Given the description of an element on the screen output the (x, y) to click on. 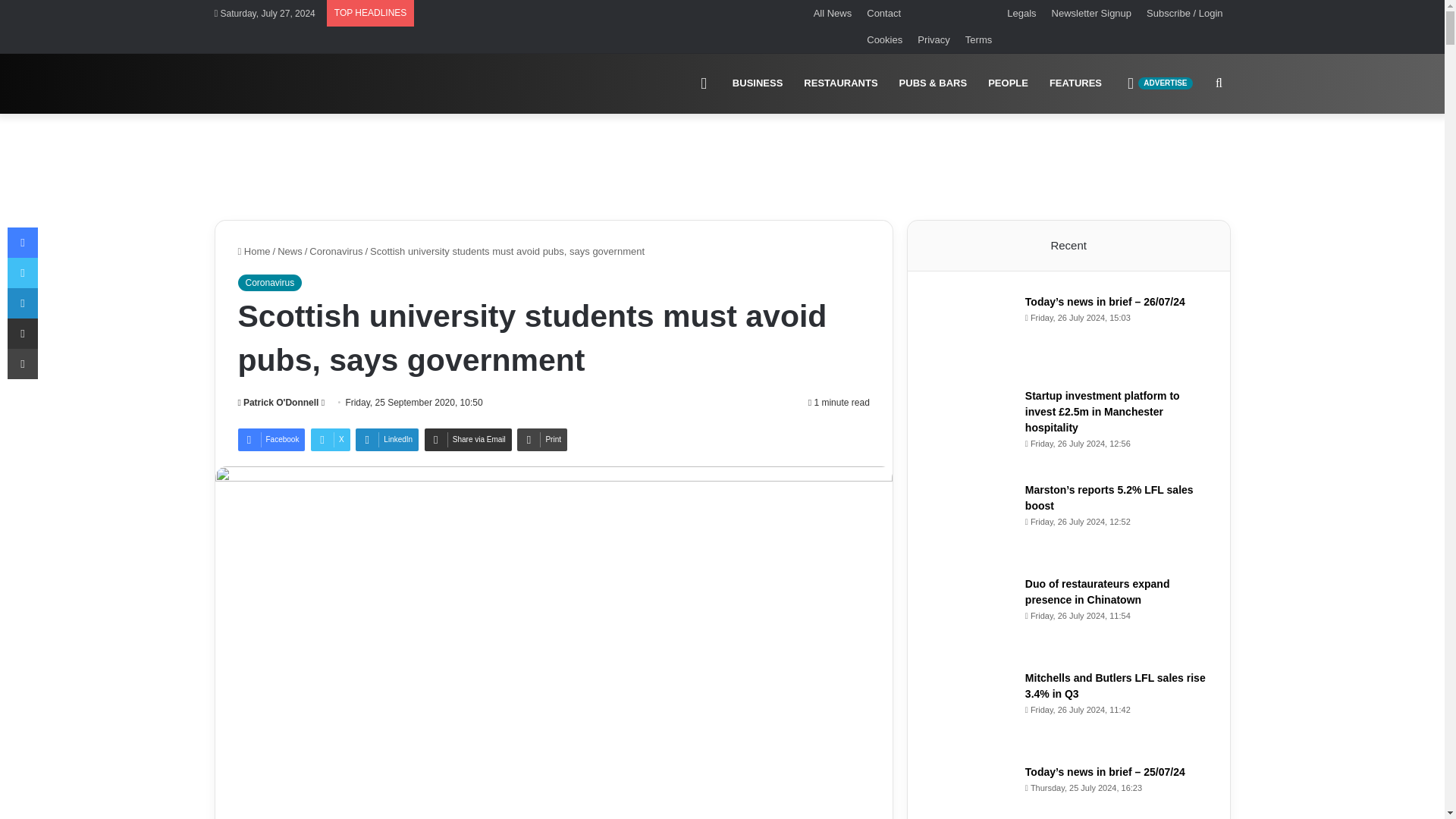
Share via Email (468, 439)
LinkedIn (387, 439)
Patrick O'Donnell (278, 402)
Newsletter Signup (1091, 13)
Facebook (271, 439)
BUSINESS (757, 83)
X (330, 439)
Legals (1020, 13)
Terms (978, 39)
Privacy (934, 39)
HOME (703, 83)
PEOPLE (1007, 83)
RESTAURANTS (840, 83)
